Given the description of an element on the screen output the (x, y) to click on. 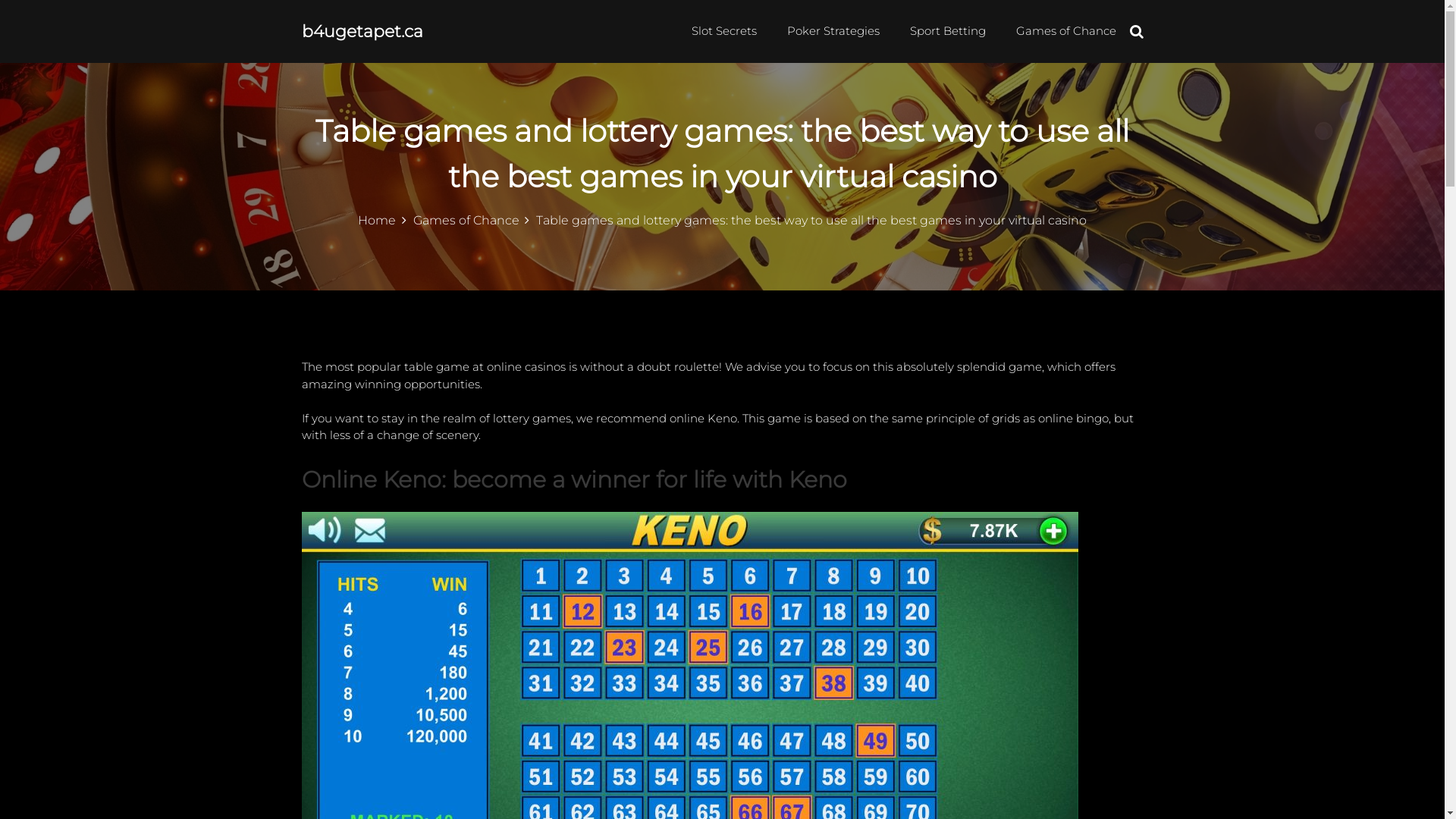
Games of Chance Element type: text (1066, 30)
Games of Chance Element type: text (470, 220)
b4ugetapet.ca Element type: text (362, 31)
Sport Betting Element type: text (947, 30)
Poker Strategies Element type: text (833, 30)
Home Element type: text (381, 220)
Circular focus Element type: text (1443, 162)
Slot Secrets Element type: text (723, 30)
